Given the description of an element on the screen output the (x, y) to click on. 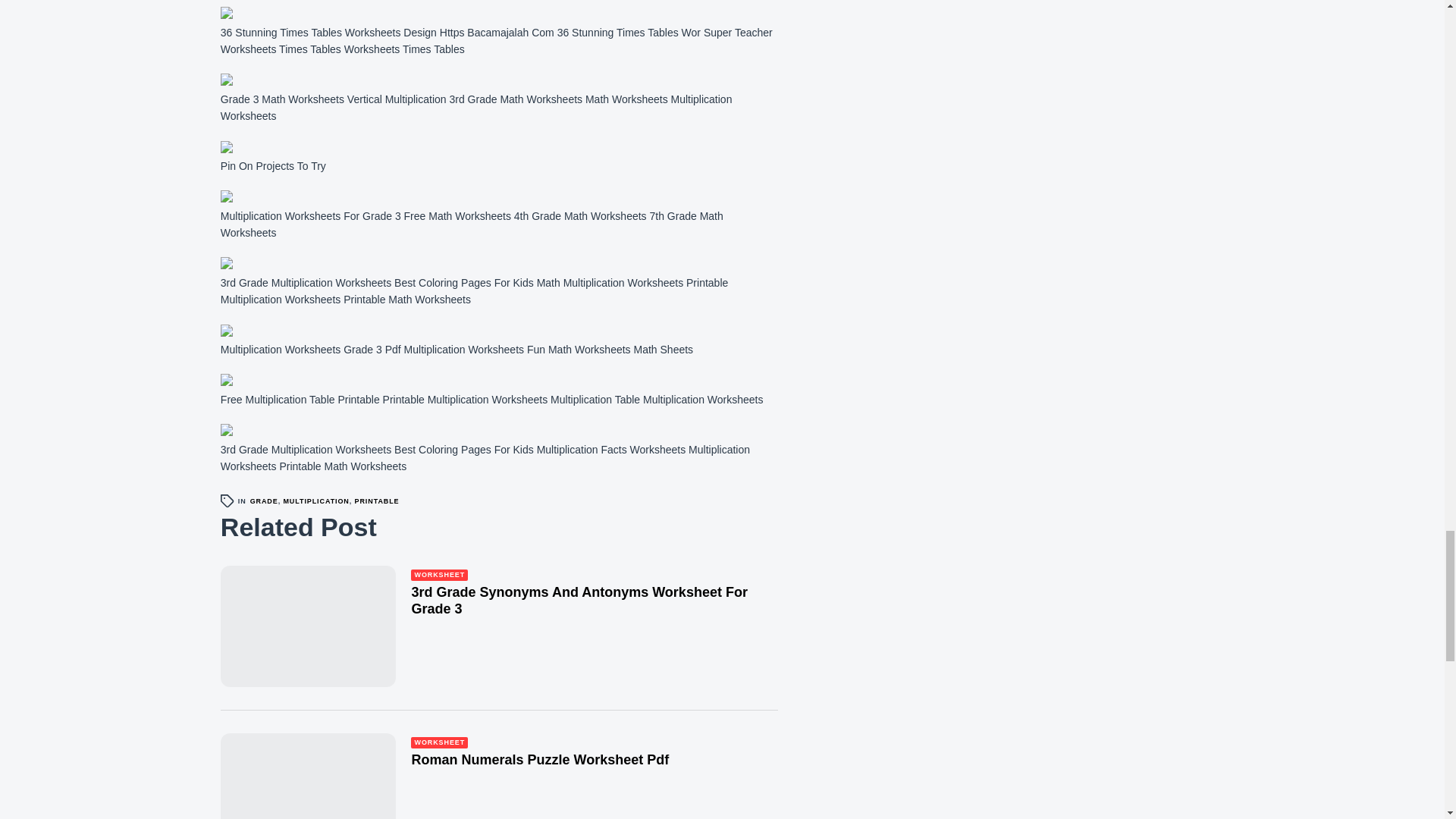
MULTIPLICATION (315, 501)
GRADE (264, 501)
PRINTABLE (376, 501)
